Given the description of an element on the screen output the (x, y) to click on. 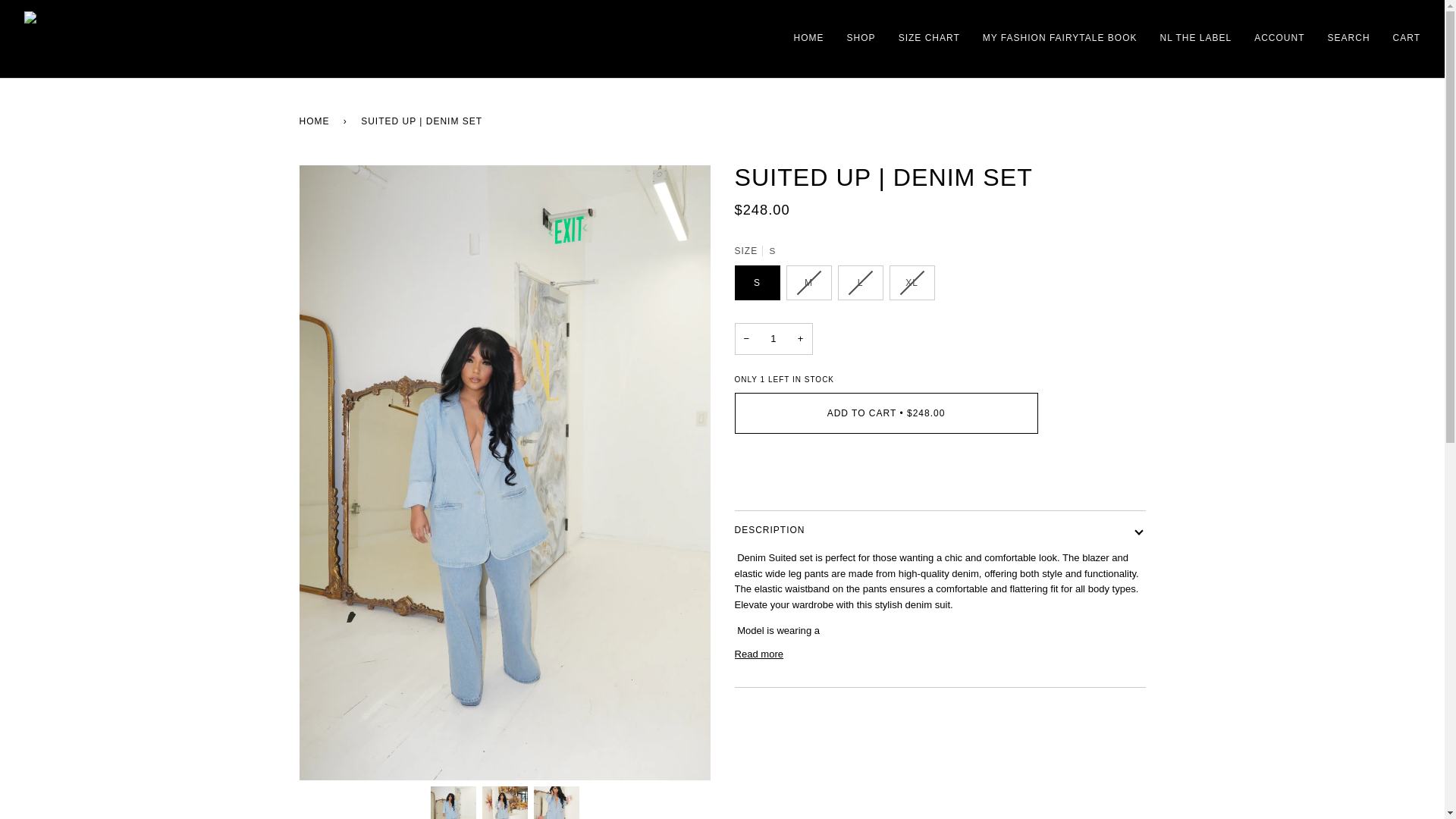
SIZE CHART (928, 38)
Back to the frontpage (316, 120)
MY FASHION FAIRYTALE BOOK (1059, 38)
1 (772, 338)
ACCOUNT (1279, 38)
NL THE LABEL (1195, 38)
